Given the description of an element on the screen output the (x, y) to click on. 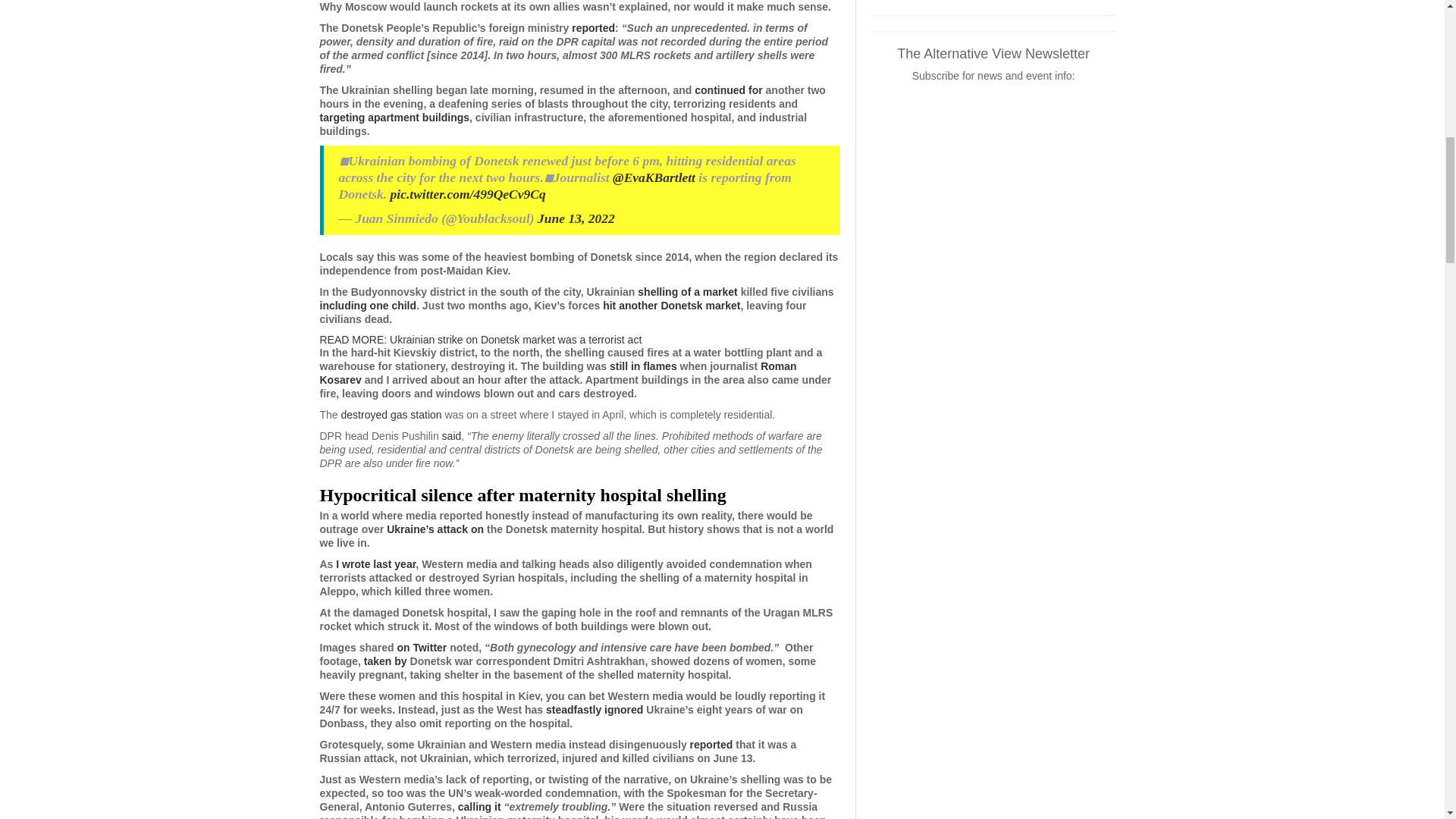
steadfastly ignored (594, 709)
calling it (479, 806)
still in flames (643, 366)
destroyed gas station (391, 414)
targeting apartment buildings (395, 117)
continued for (727, 90)
taken by (385, 661)
June 13, 2022 (575, 218)
reported (711, 744)
